Given the description of an element on the screen output the (x, y) to click on. 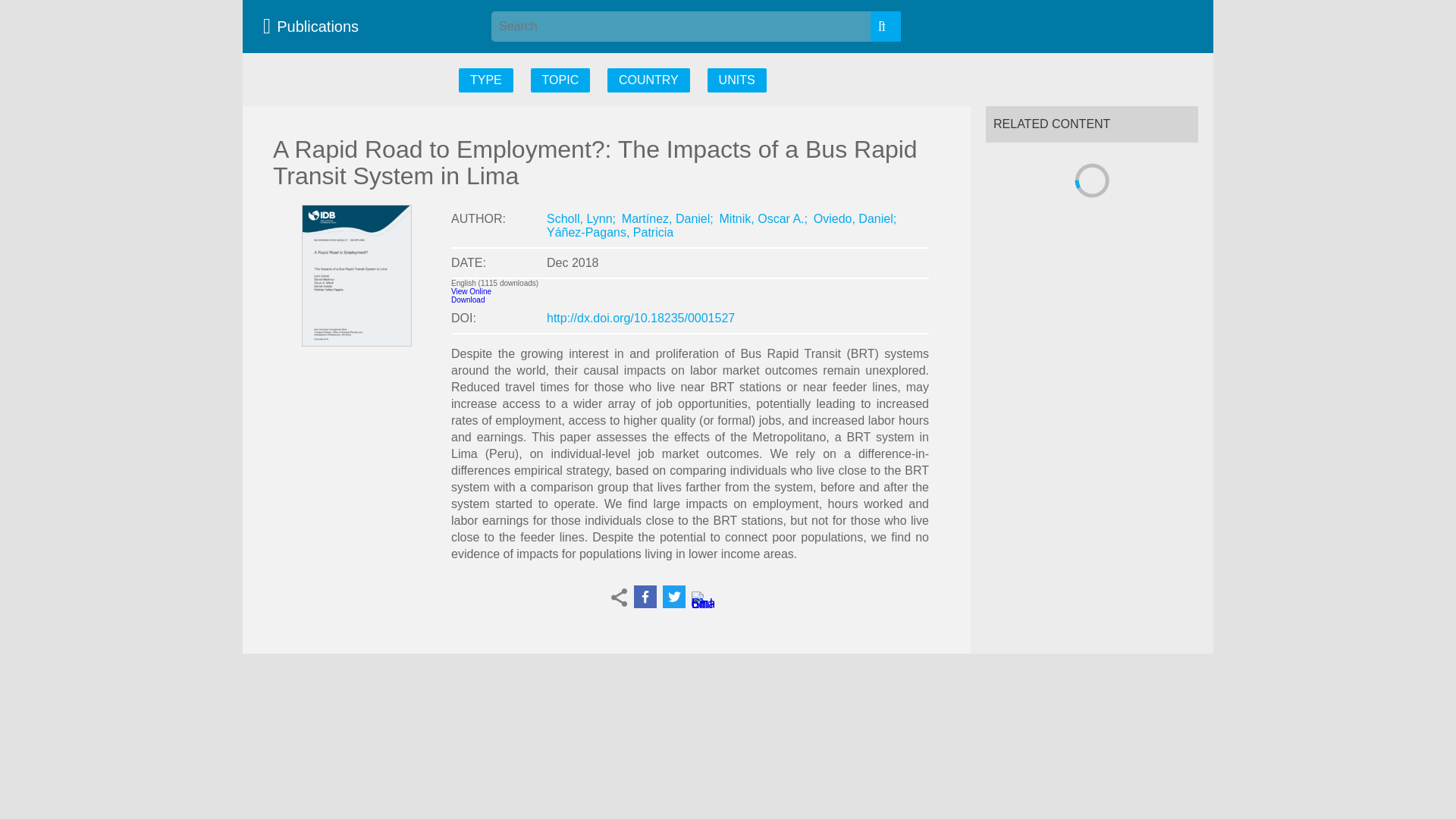
Share on Twitter (673, 596)
Apply (885, 26)
UNITS (737, 79)
Download (467, 299)
TYPE (485, 79)
Share on LinkedIn (702, 602)
COUNTRY (648, 79)
Mitnik, Oscar A.; (763, 218)
Oviedo, Daniel; (854, 218)
